Given the description of an element on the screen output the (x, y) to click on. 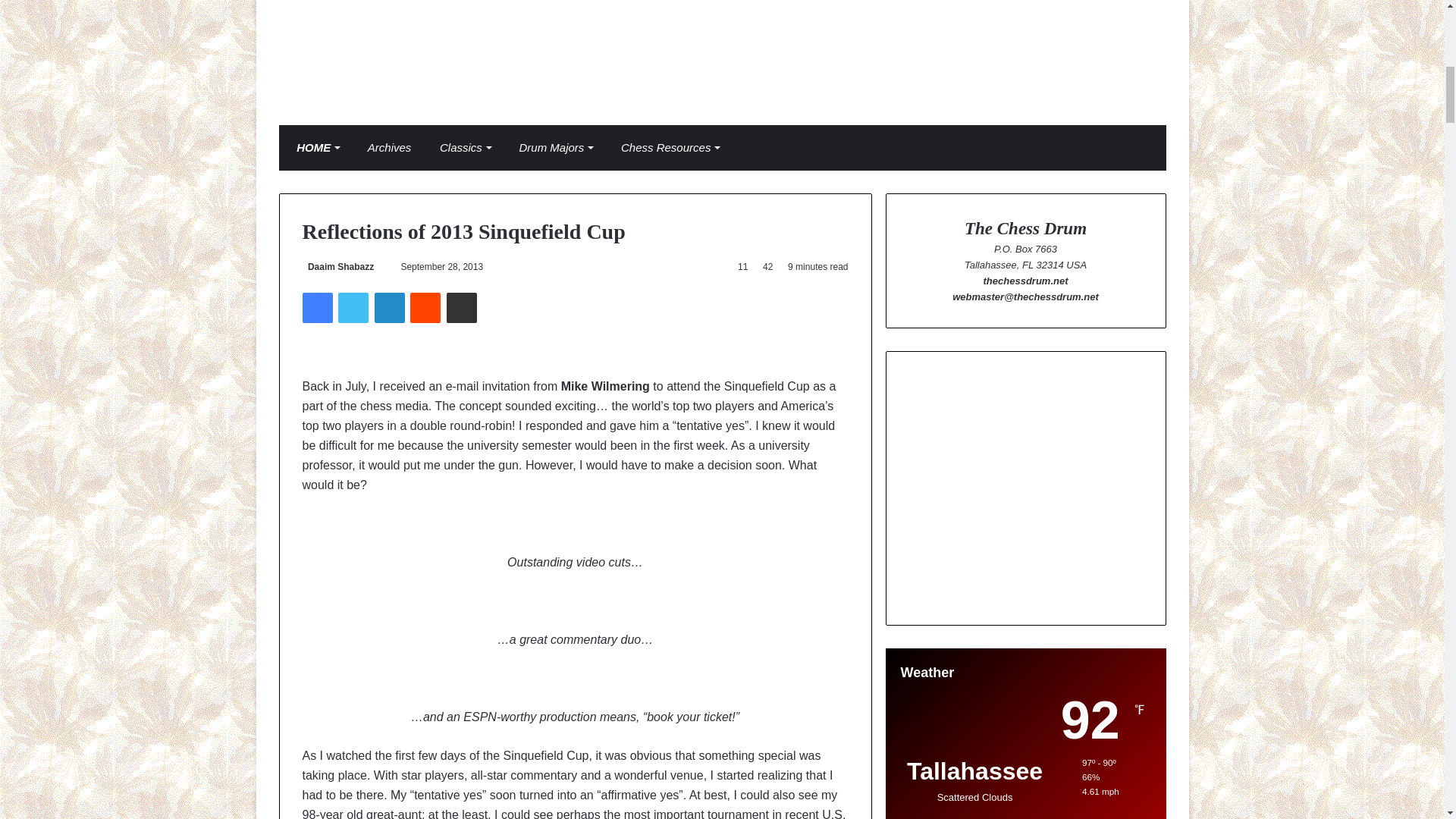
Reddit (425, 307)
Chess Resources (665, 147)
Archives (385, 147)
Twitter (352, 307)
Classics (461, 147)
Facebook (316, 307)
LinkedIn (389, 307)
Daaim Shabazz (337, 266)
Share via Email (461, 307)
LinkedIn (389, 307)
HOME (314, 147)
The Chess Drum... thechessdrum.net (722, 53)
Share via Email (461, 307)
Drum Majors (552, 147)
Twitter (352, 307)
